Given the description of an element on the screen output the (x, y) to click on. 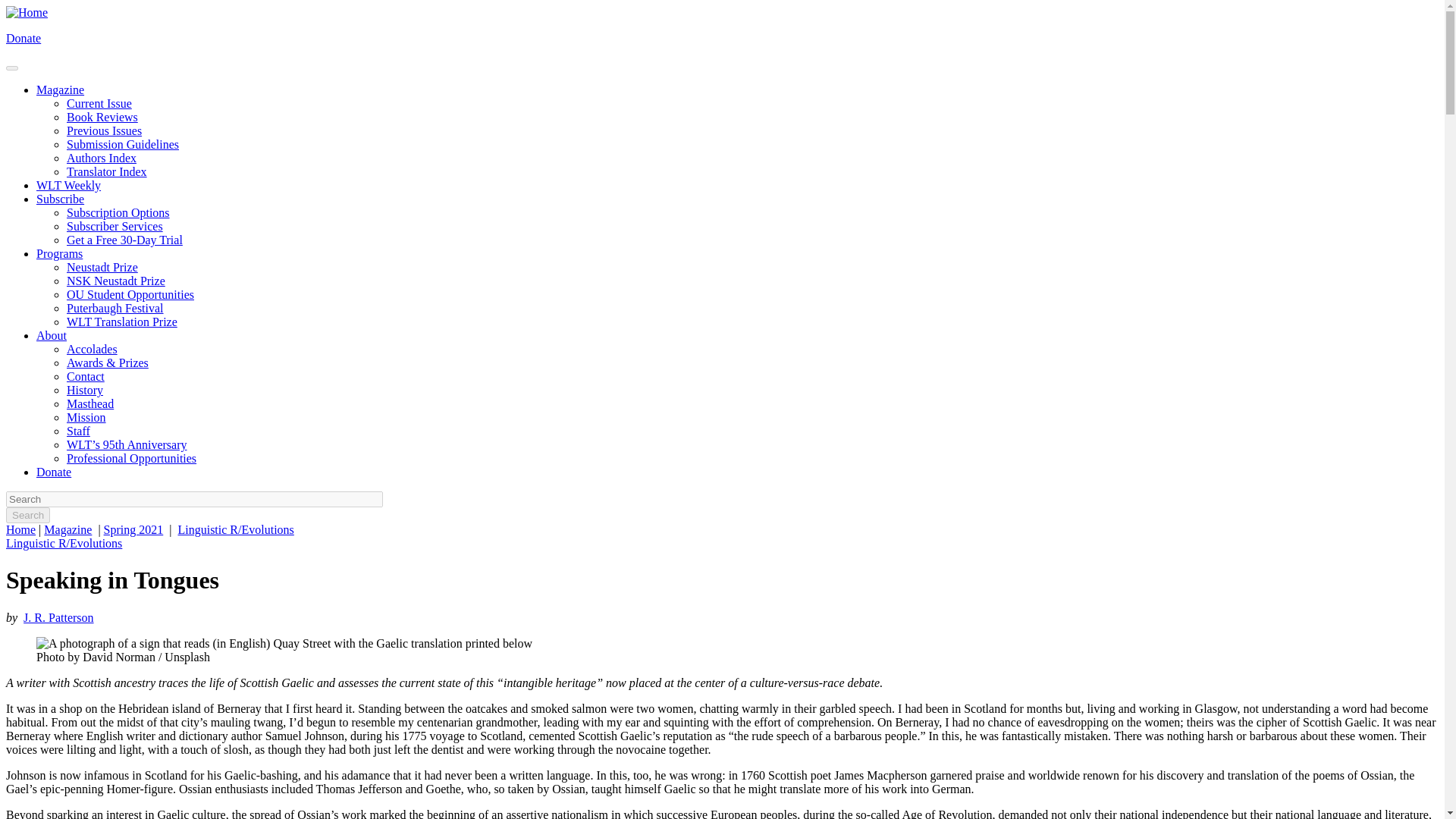
Staff (78, 431)
WLT Weekly (68, 185)
Expand menu Magazine (60, 89)
Masthead (89, 403)
Home (26, 11)
Neustadt Prize (102, 267)
Magazine (60, 89)
Magazine (67, 529)
Submission Guidelines (122, 144)
Subscription Options (118, 212)
